Given the description of an element on the screen output the (x, y) to click on. 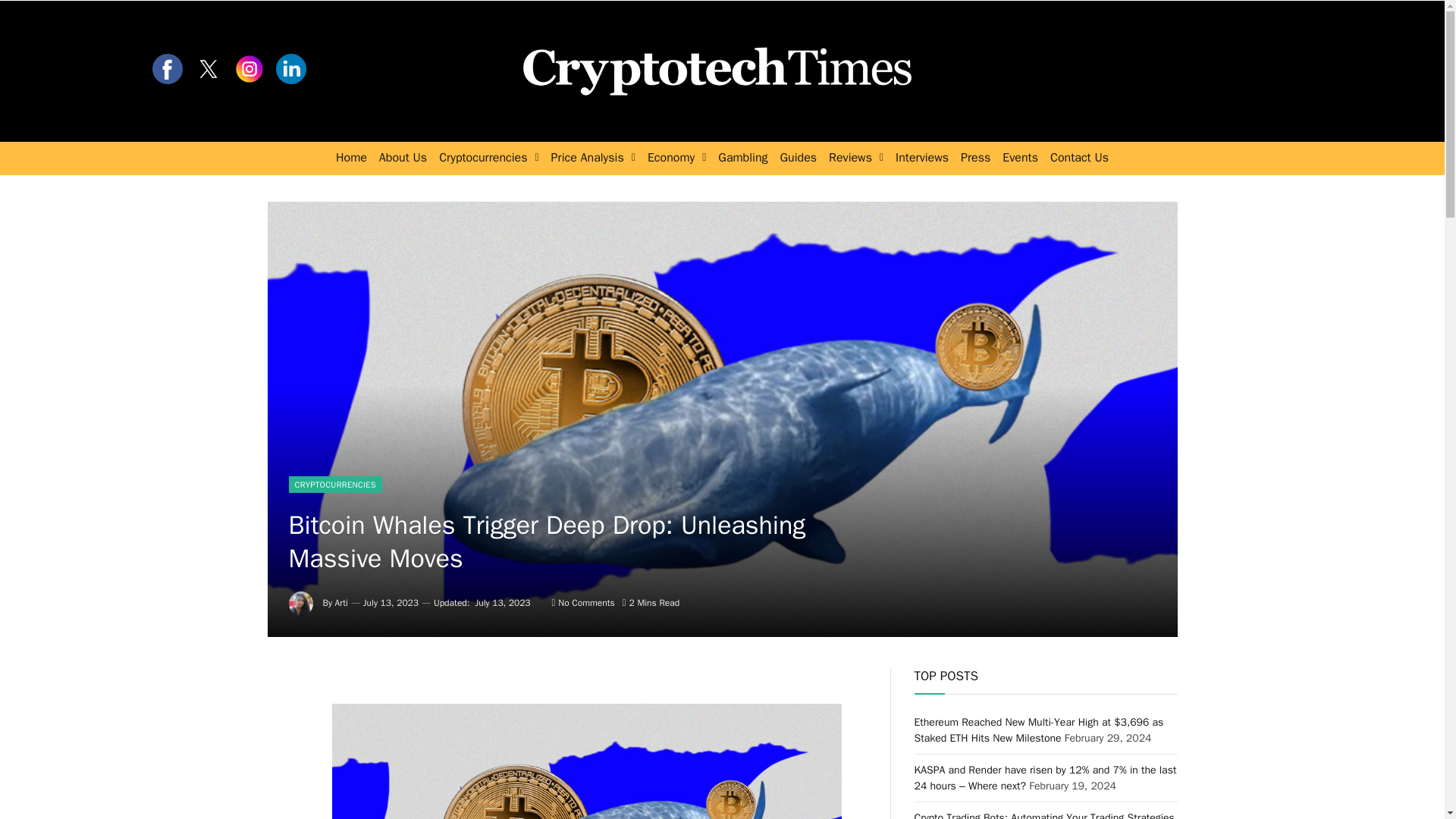
About Us (402, 157)
CRYPTOCURRENCIES (334, 484)
Arti (340, 603)
Guides (799, 157)
Contact Us (1079, 157)
No Comments (582, 603)
Home (351, 157)
Posts by Arti (340, 603)
Gambling (742, 157)
Price Analysis (593, 157)
Events (1019, 157)
Cryptocurrencies (488, 157)
Press (975, 157)
Economy (676, 157)
Reviews (855, 157)
